Given the description of an element on the screen output the (x, y) to click on. 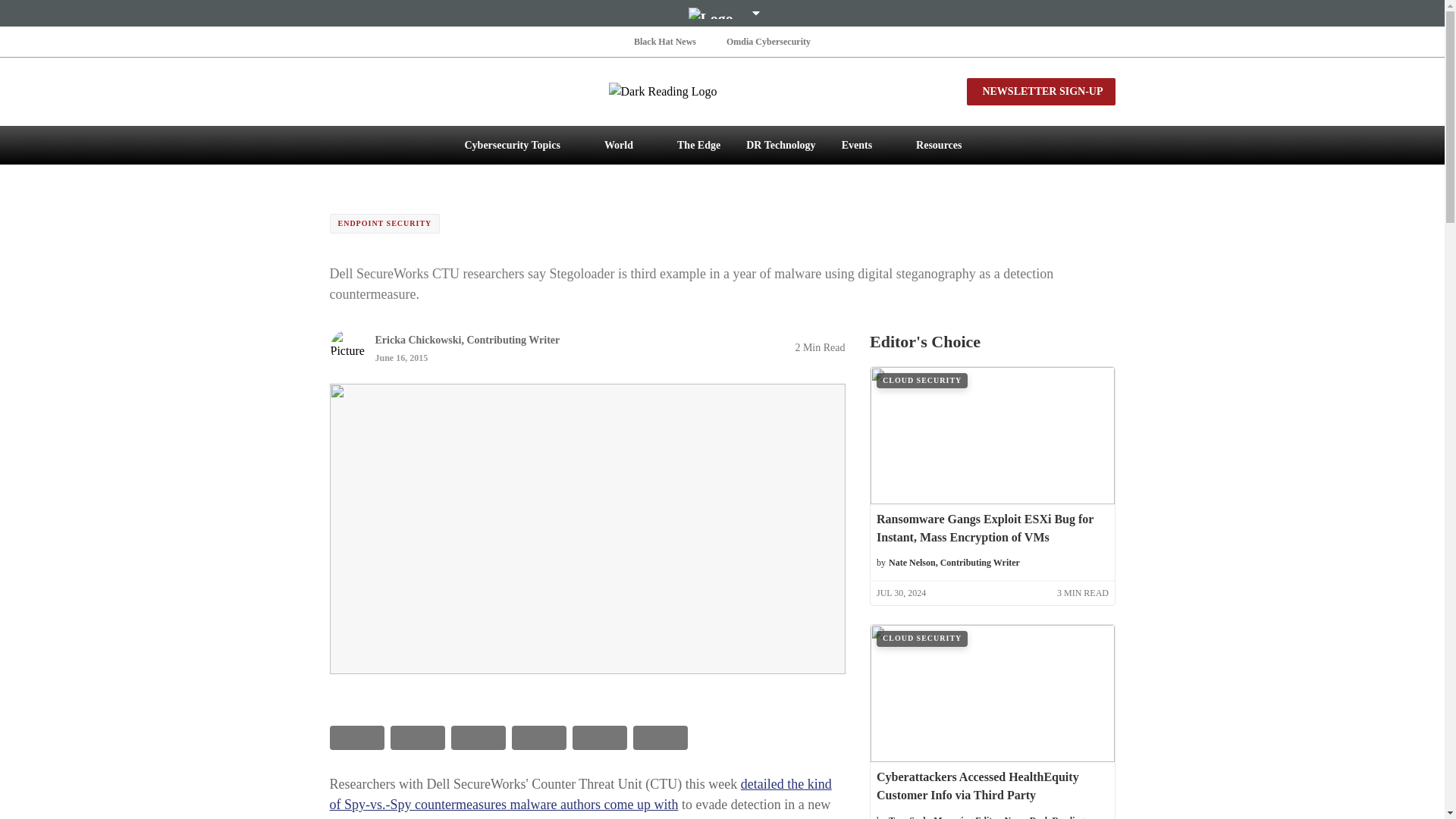
Dark Reading Logo (721, 91)
Omdia Cybersecurity (768, 41)
Picture of Ericka Chickowski, Contributing Writer (347, 347)
NEWSLETTER SIGN-UP (1040, 90)
Black Hat News (664, 41)
